Given the description of an element on the screen output the (x, y) to click on. 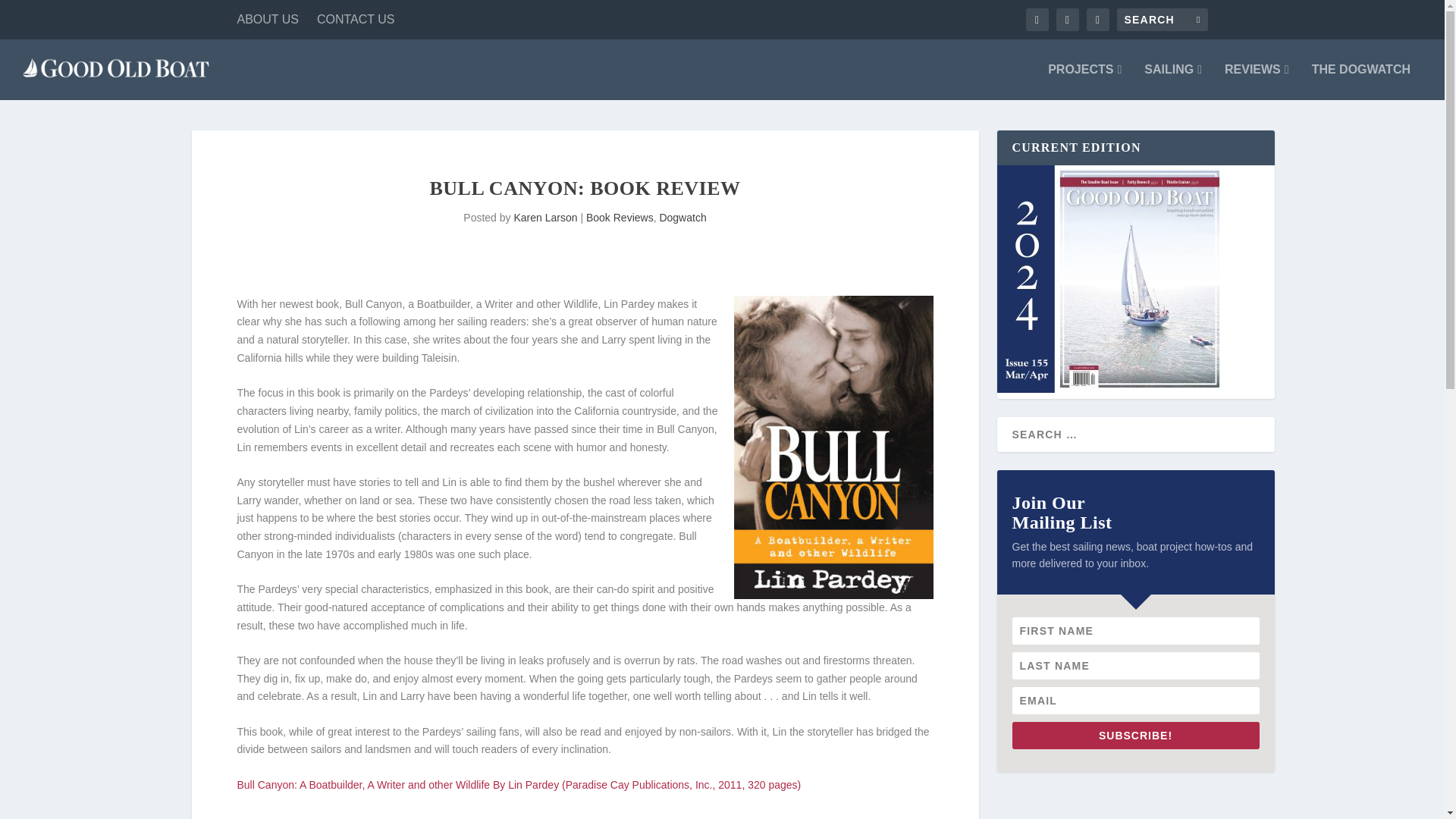
CONTACT US (355, 19)
Search for: (1161, 19)
SAILING (1173, 81)
PROJECTS (1084, 81)
THE DOGWATCH (1360, 81)
REVIEWS (1256, 81)
ABOUT US (266, 19)
Posts by Karen Larson (544, 217)
